Given the description of an element on the screen output the (x, y) to click on. 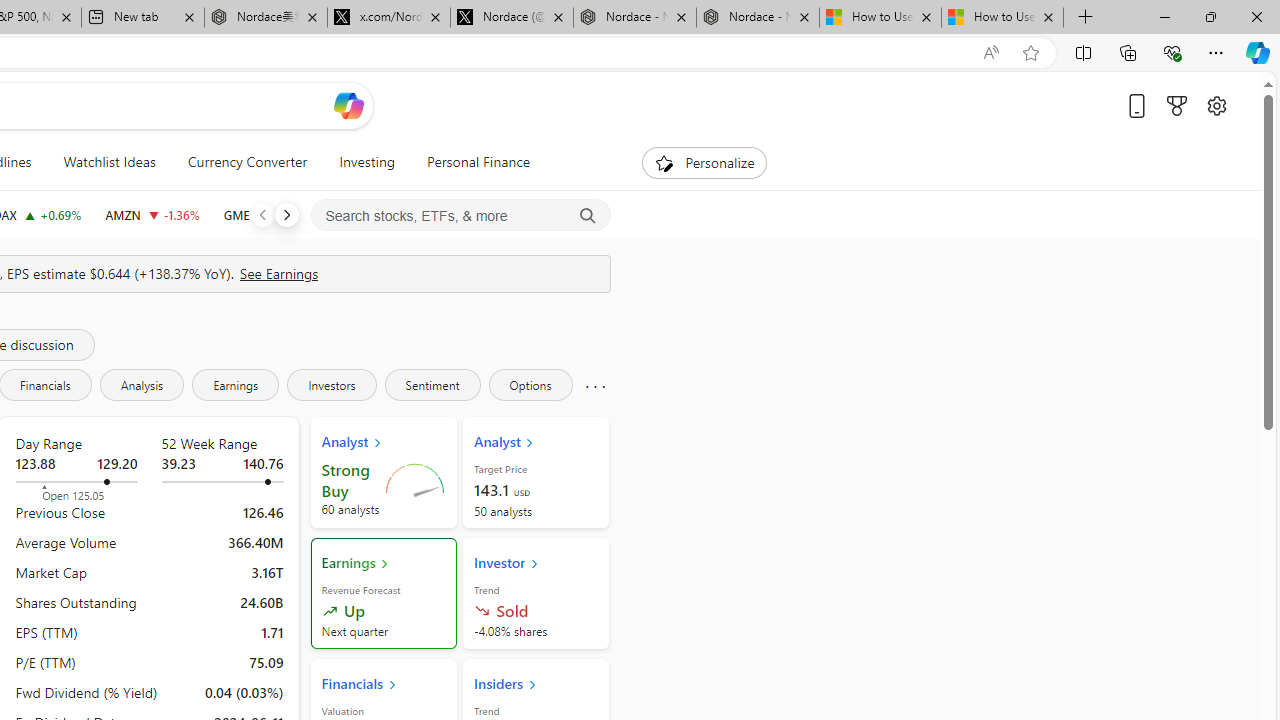
Investing (367, 162)
Nordace (@NordaceOfficial) / X (511, 17)
Watchlist Ideas (109, 162)
Microsoft rewards (1176, 105)
Watchlist Ideas (109, 162)
Options (530, 384)
Investing (367, 162)
